Given the description of an element on the screen output the (x, y) to click on. 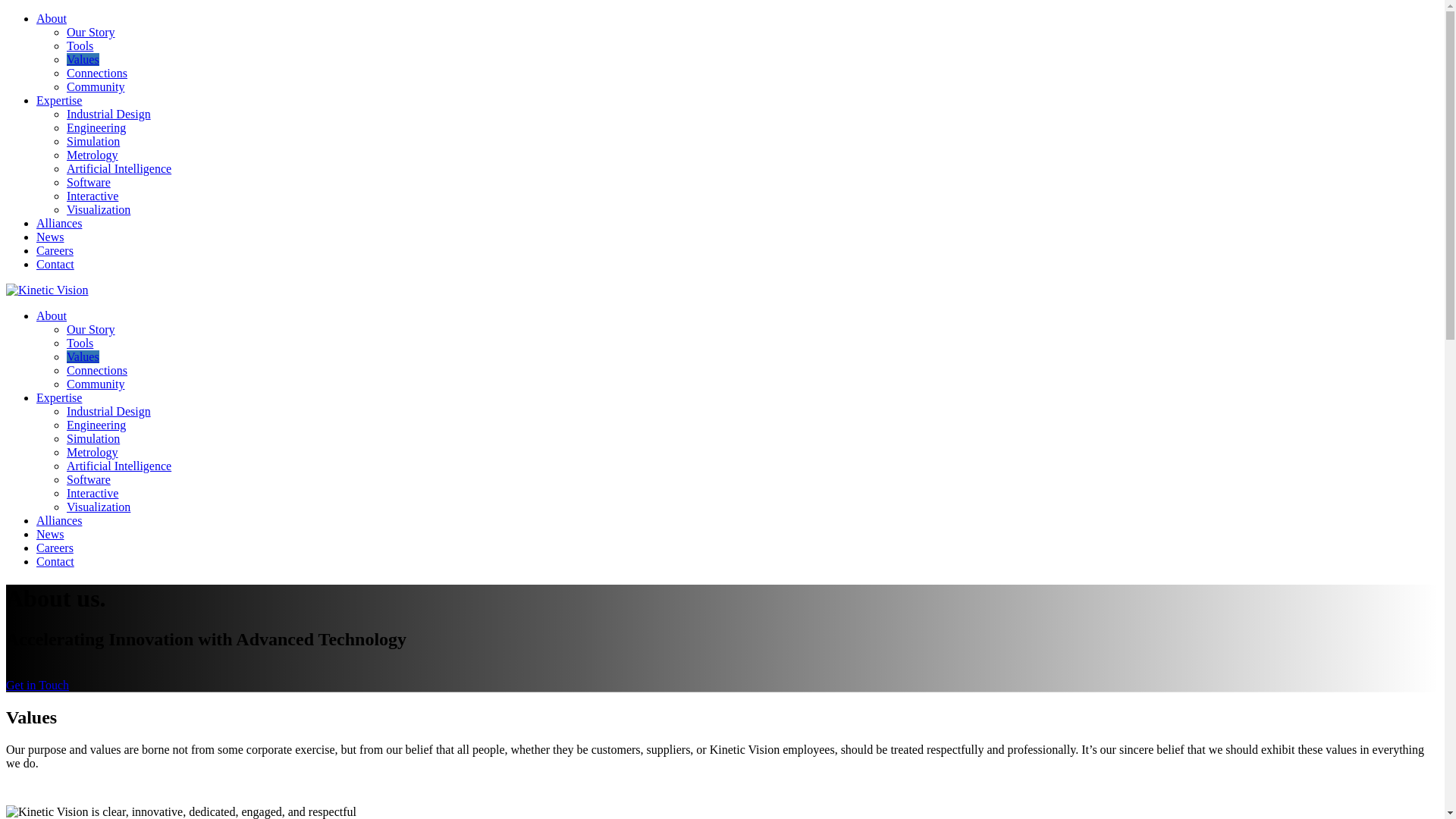
Alliances (58, 223)
Simulation (92, 438)
Simulation (92, 141)
Interactive (91, 195)
Expertise (58, 100)
Values (82, 59)
Connections (97, 72)
Contact (55, 561)
Engineering (95, 424)
Expertise (58, 397)
Values (82, 356)
Contact (55, 264)
Careers (55, 250)
Our Story (90, 31)
Visualization (98, 506)
